Given the description of an element on the screen output the (x, y) to click on. 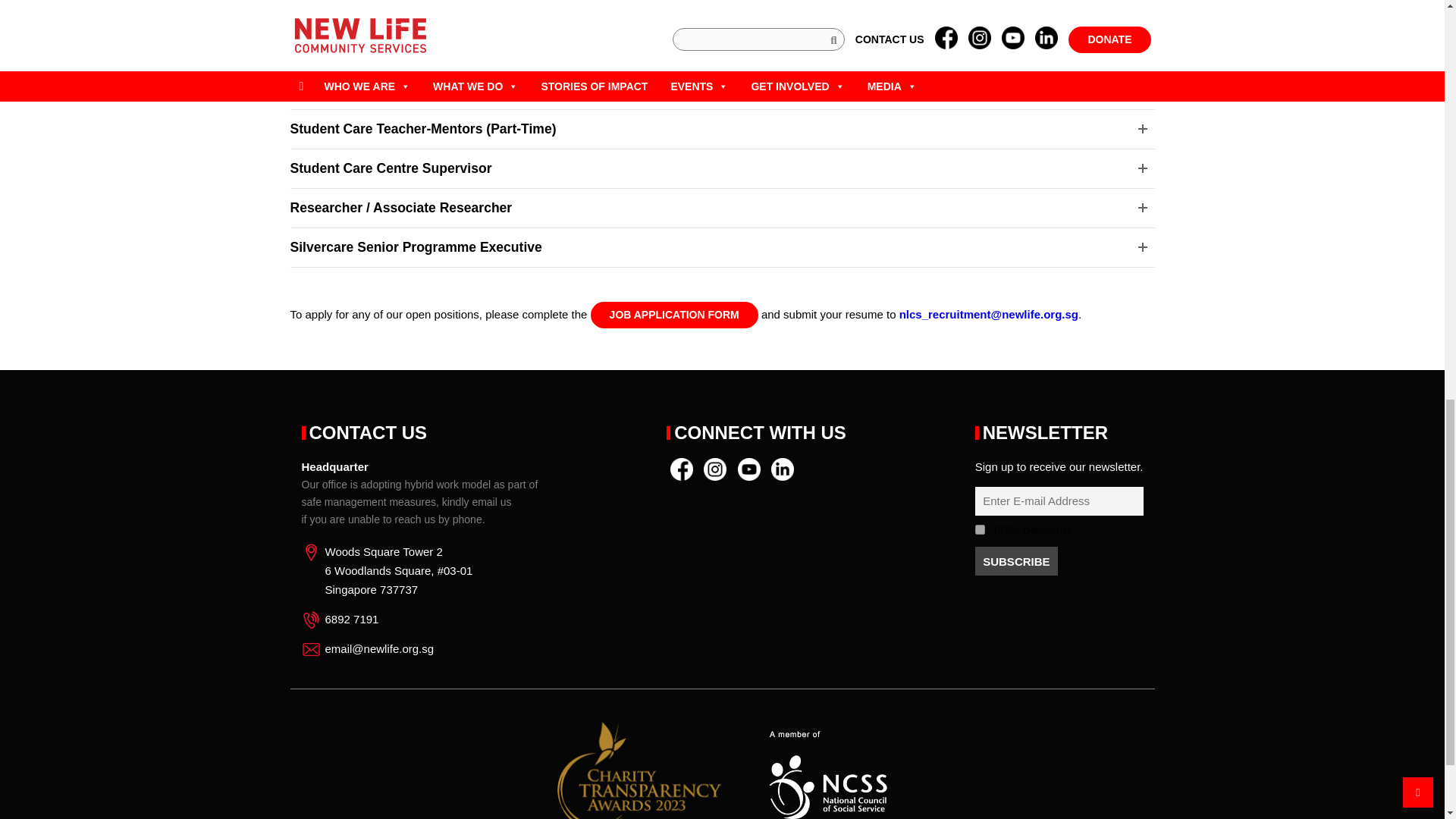
on (980, 529)
Subscribe (1016, 561)
